Given the description of an element on the screen output the (x, y) to click on. 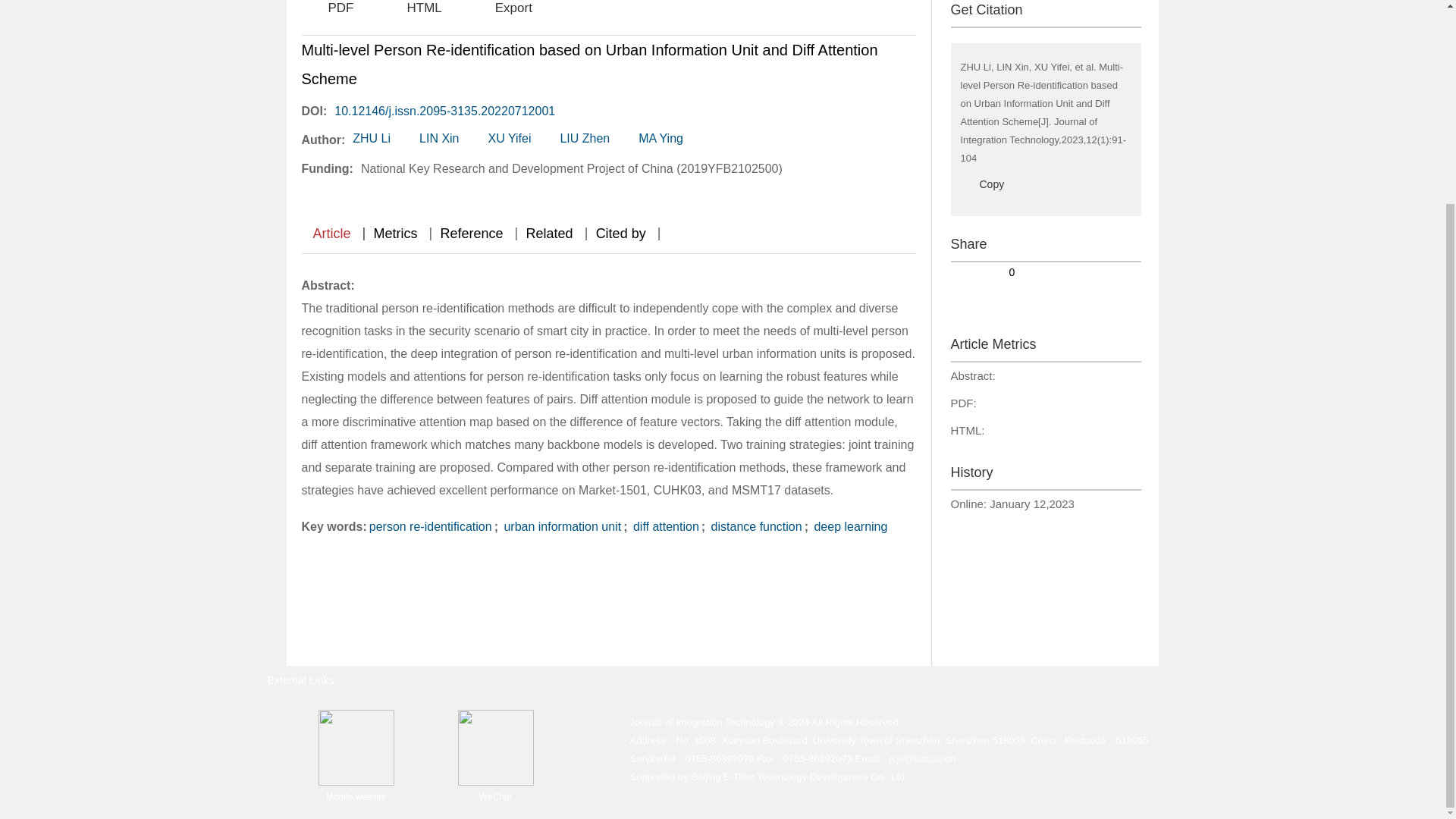
PDF (327, 8)
HTML (411, 8)
